Given the description of an element on the screen output the (x, y) to click on. 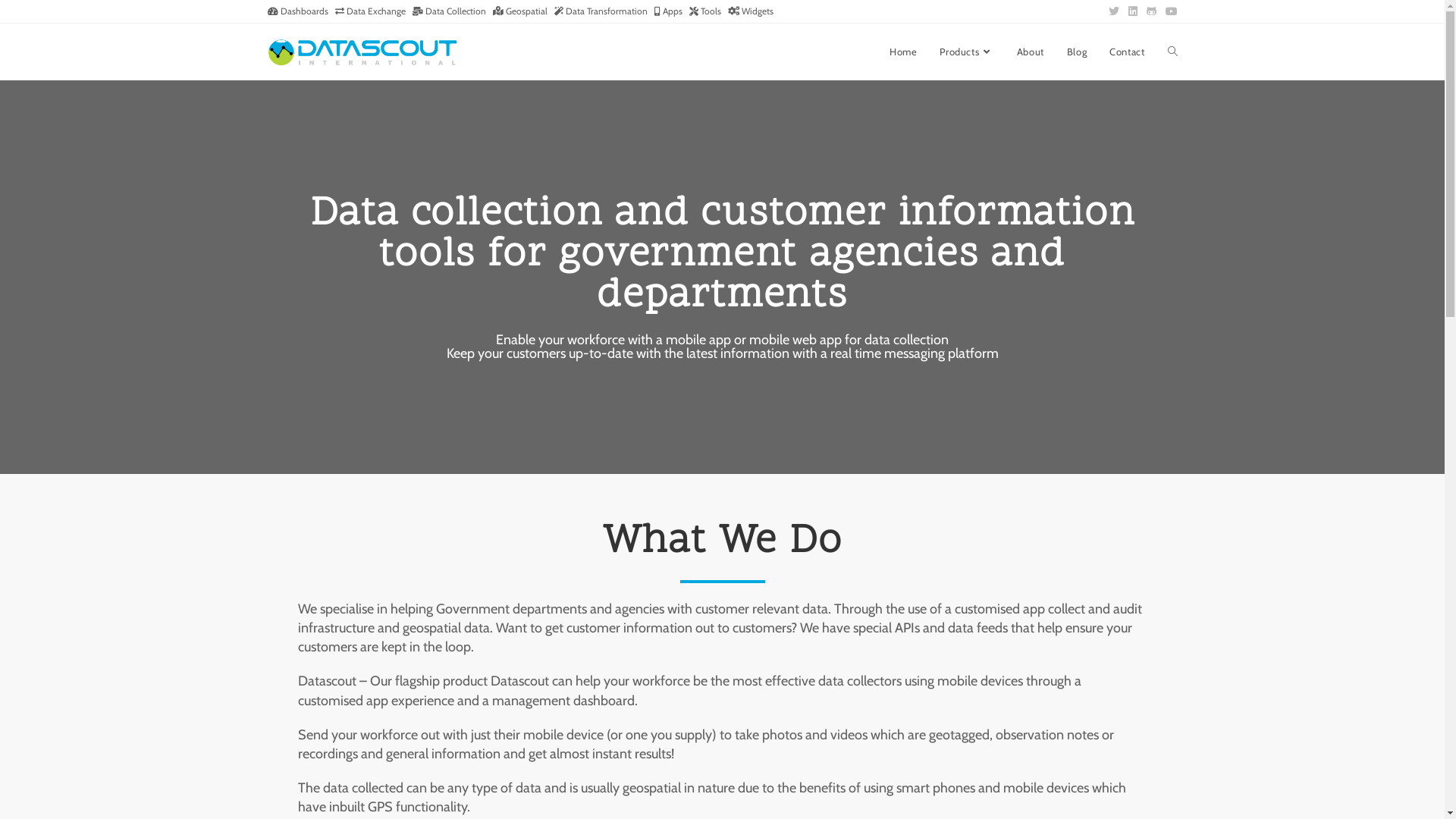
Blog Element type: text (1076, 51)
About Element type: text (1030, 51)
Products Element type: text (966, 51)
Contact Element type: text (1126, 51)
Home Element type: text (903, 51)
